Given the description of an element on the screen output the (x, y) to click on. 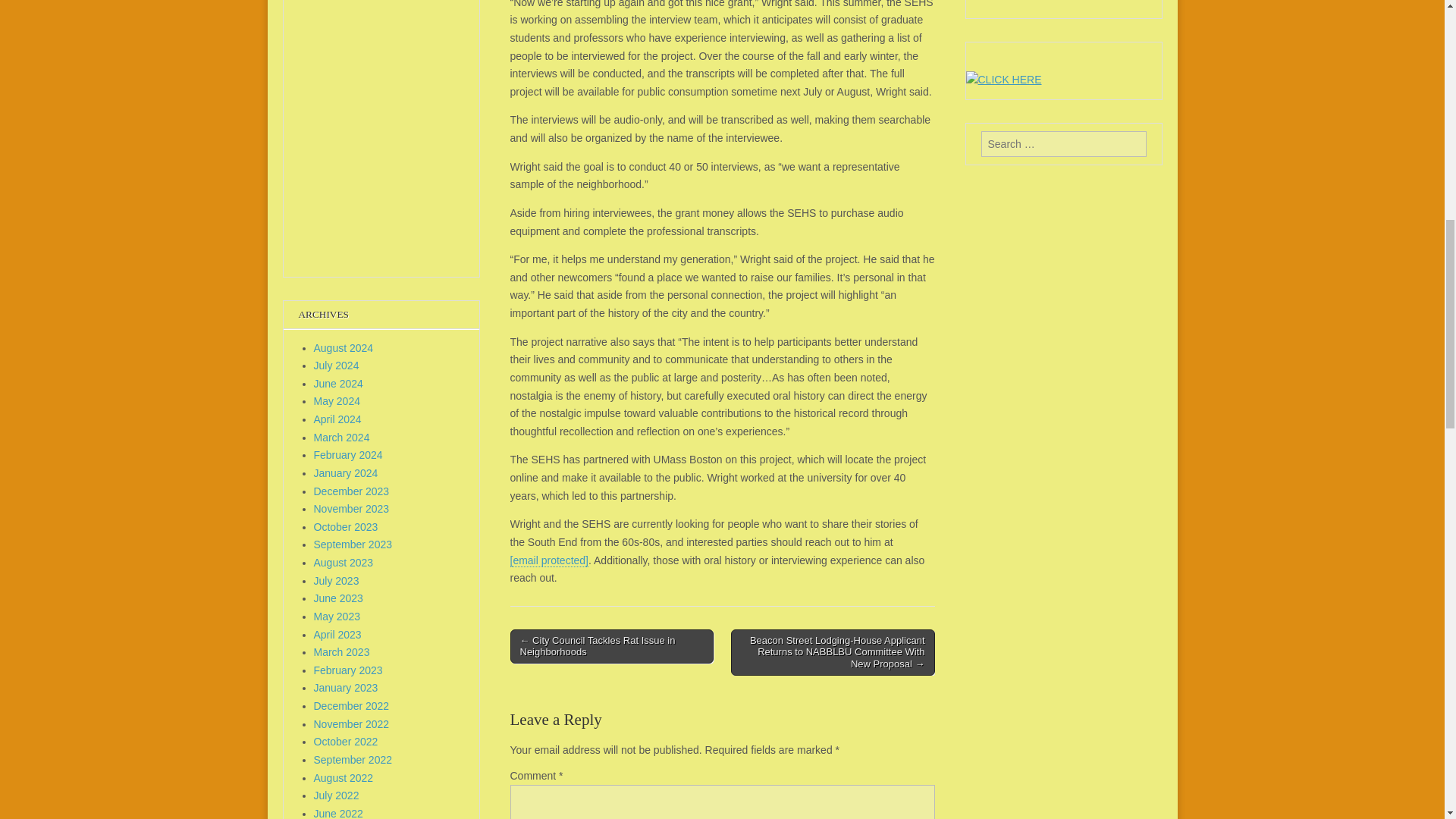
March 2024 (341, 437)
August 2024 (344, 347)
July 2024 (336, 365)
June 2024 (338, 383)
May 2024 (336, 400)
April 2024 (337, 419)
February 2024 (348, 454)
